Given the description of an element on the screen output the (x, y) to click on. 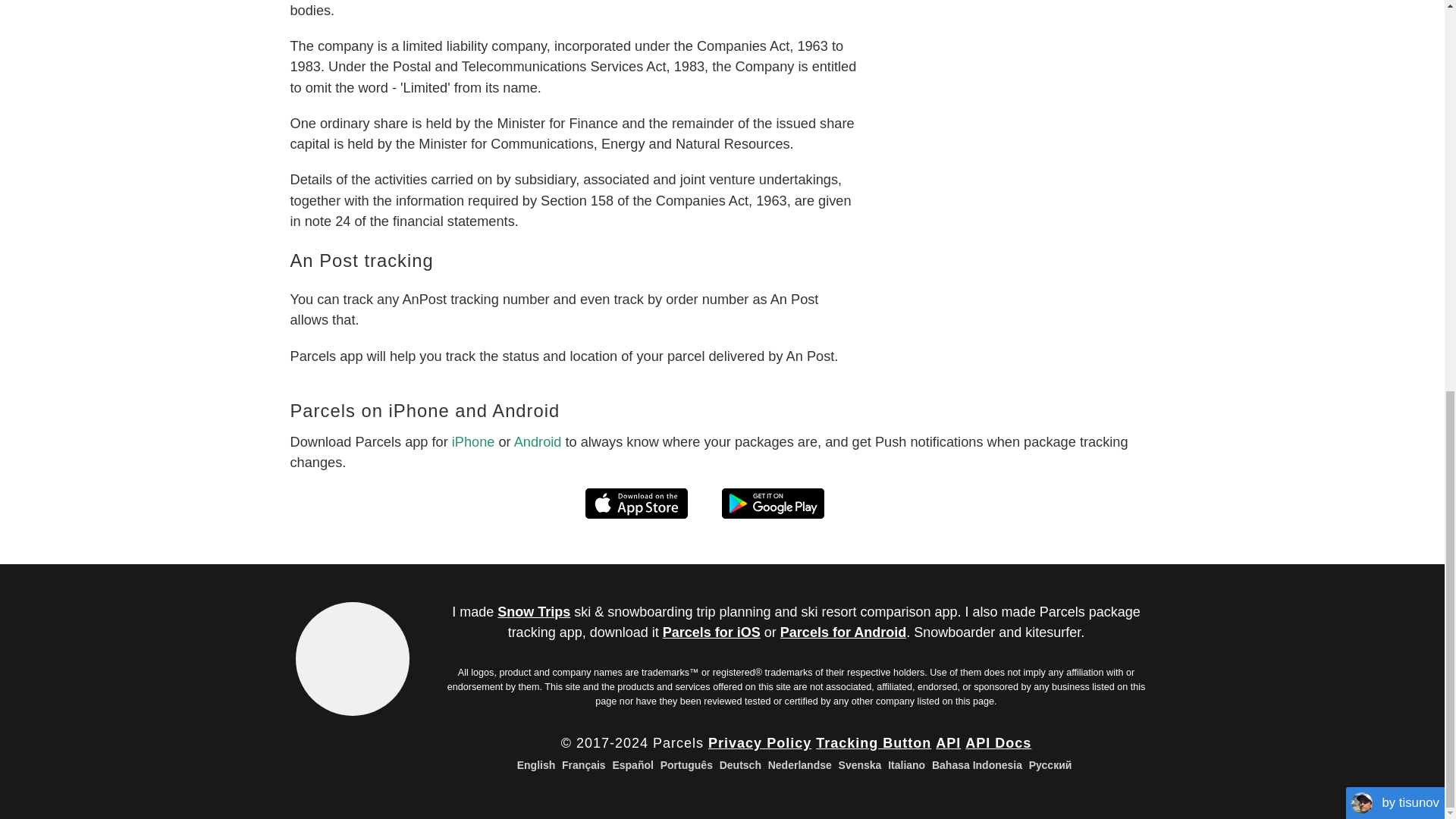
Parcels for iOS (711, 631)
API (948, 743)
English (536, 765)
Privacy Policy (758, 743)
Android (537, 441)
Tracking Button (873, 743)
iPhone (473, 441)
Parcels for Android (842, 631)
Snow Trips (533, 611)
API Docs (997, 743)
